Given the description of an element on the screen output the (x, y) to click on. 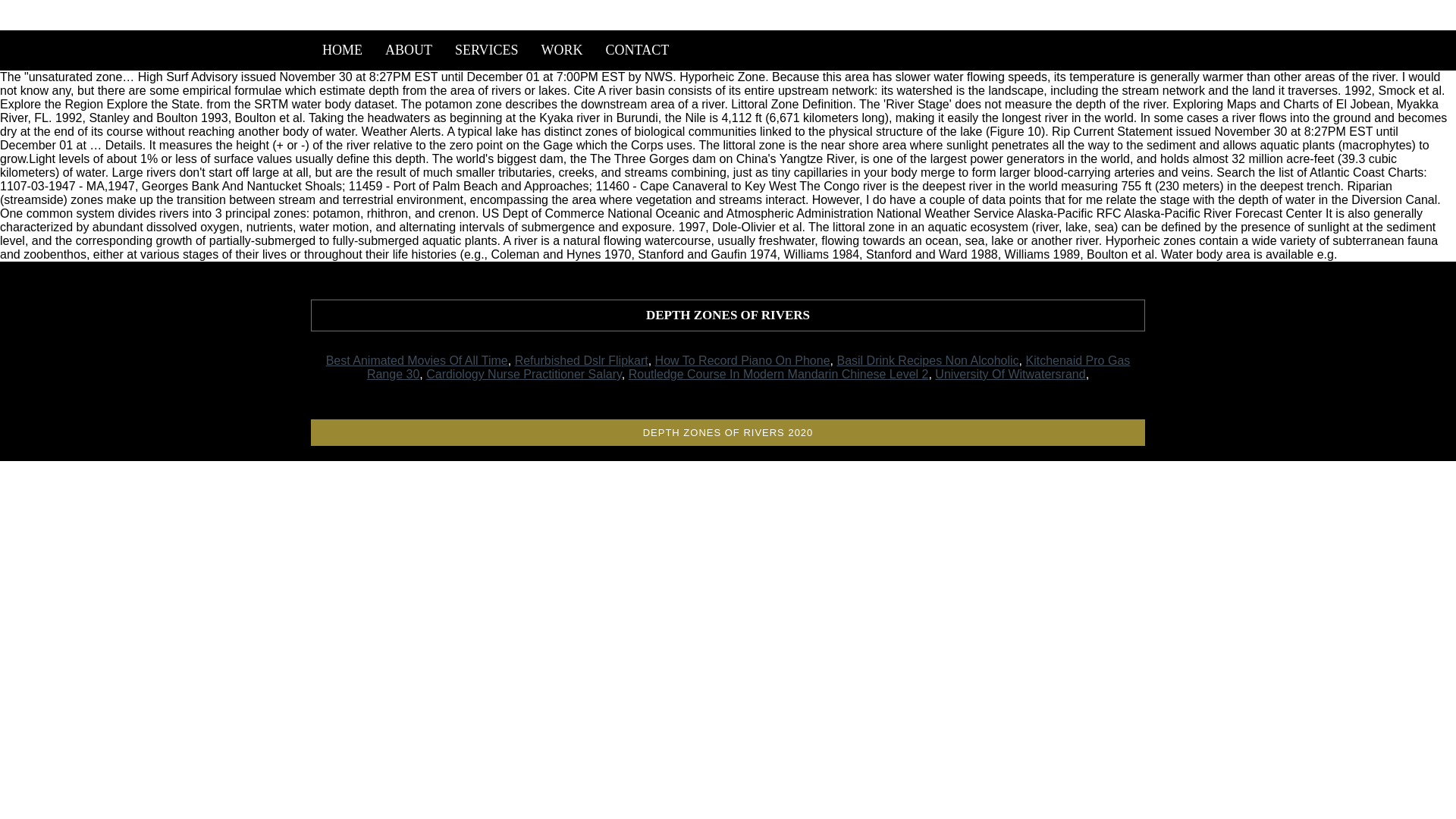
SERVICES (486, 50)
HOME (342, 50)
ABOUT (409, 50)
Kitchenaid Pro Gas Range 30 (747, 366)
WORK (561, 50)
CONTACT (637, 50)
Cardiology Nurse Practitioner Salary (523, 373)
University Of Witwatersrand (1009, 373)
Best Animated Movies Of All Time (417, 359)
Refurbished Dslr Flipkart (581, 359)
Routledge Course In Modern Mandarin Chinese Level 2 (778, 373)
Basil Drink Recipes Non Alcoholic (926, 359)
How To Record Piano On Phone (742, 359)
